Given the description of an element on the screen output the (x, y) to click on. 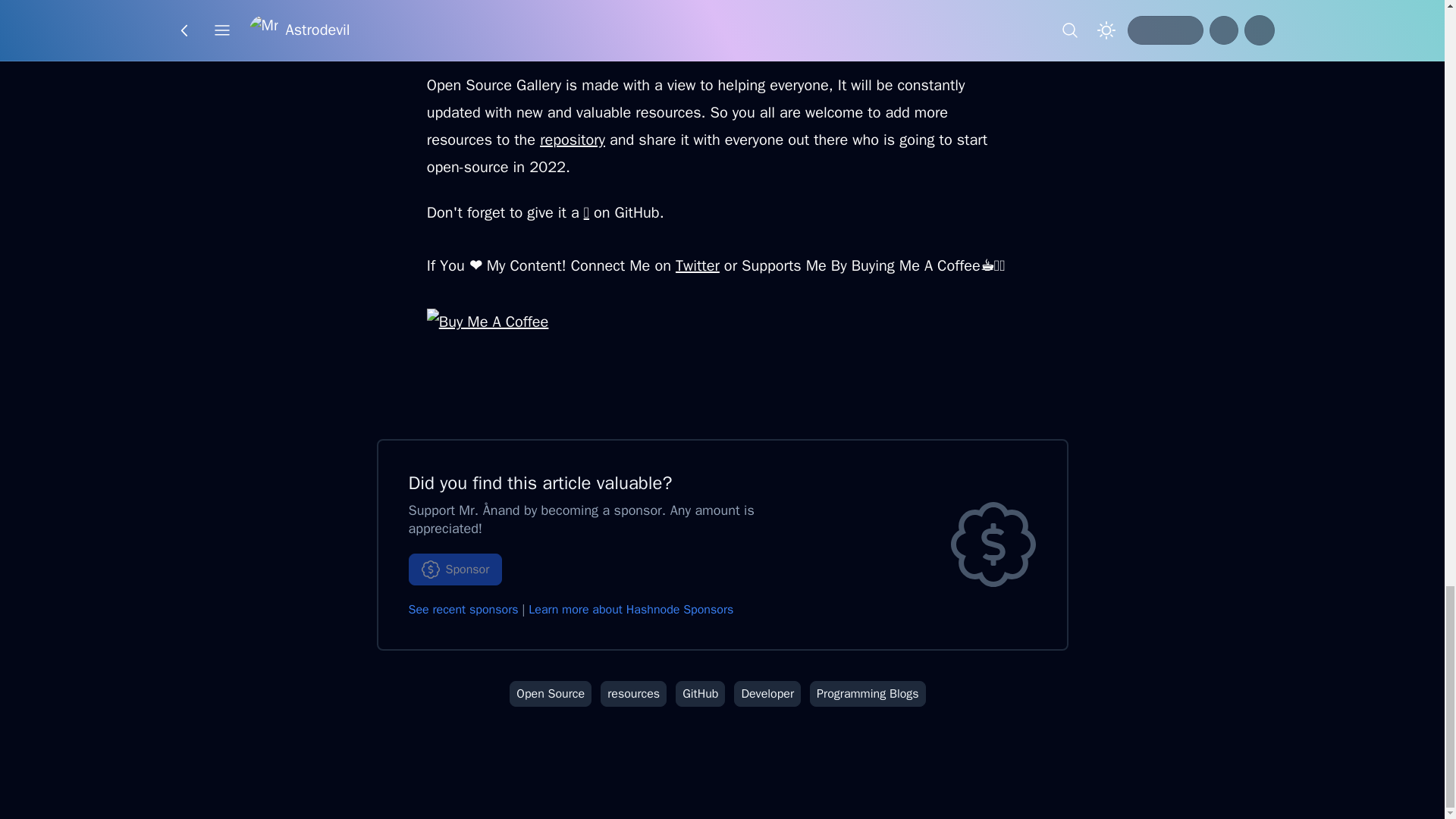
resources (632, 693)
GitHub (700, 693)
See recent sponsors (462, 609)
Programming Blogs (867, 693)
Sponsor (454, 569)
Twitter (697, 265)
Developer (766, 693)
Learn more about Hashnode Sponsors (630, 609)
Open Source (550, 693)
repository (572, 139)
